Given the description of an element on the screen output the (x, y) to click on. 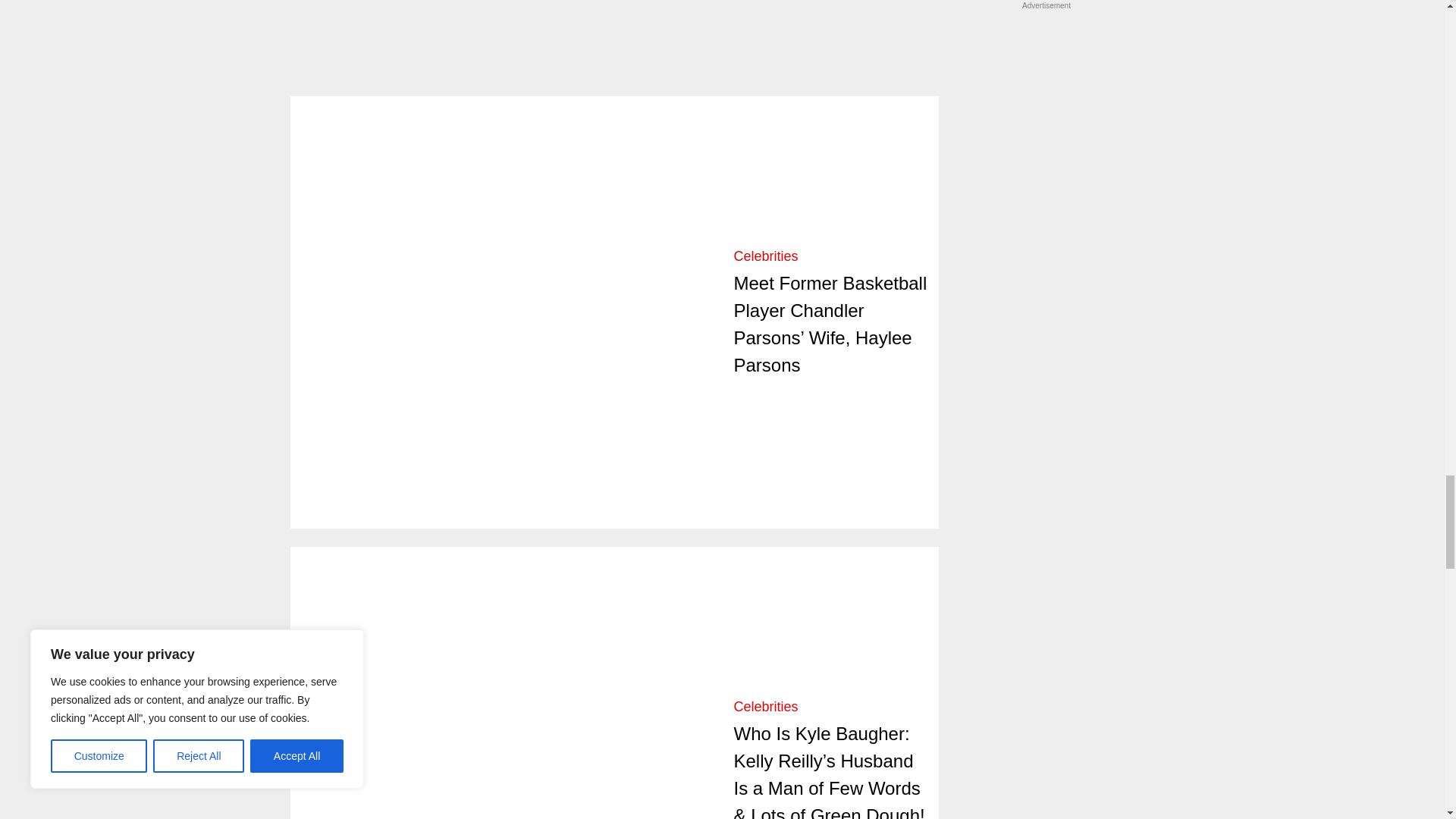
Category Name (765, 255)
Category Name (765, 706)
